Given the description of an element on the screen output the (x, y) to click on. 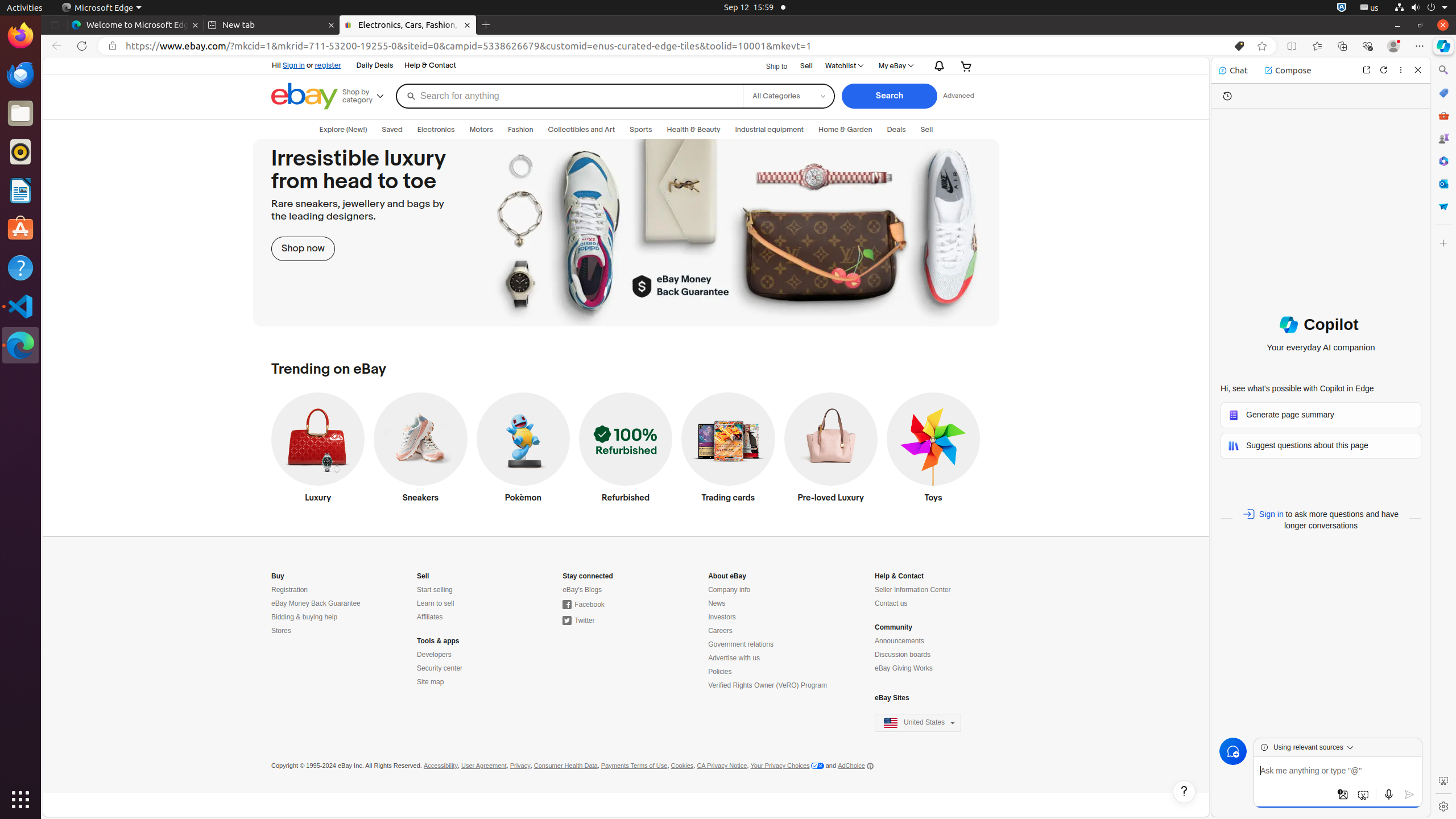
Accessibility Element type: link (440, 765)
